Given the description of an element on the screen output the (x, y) to click on. 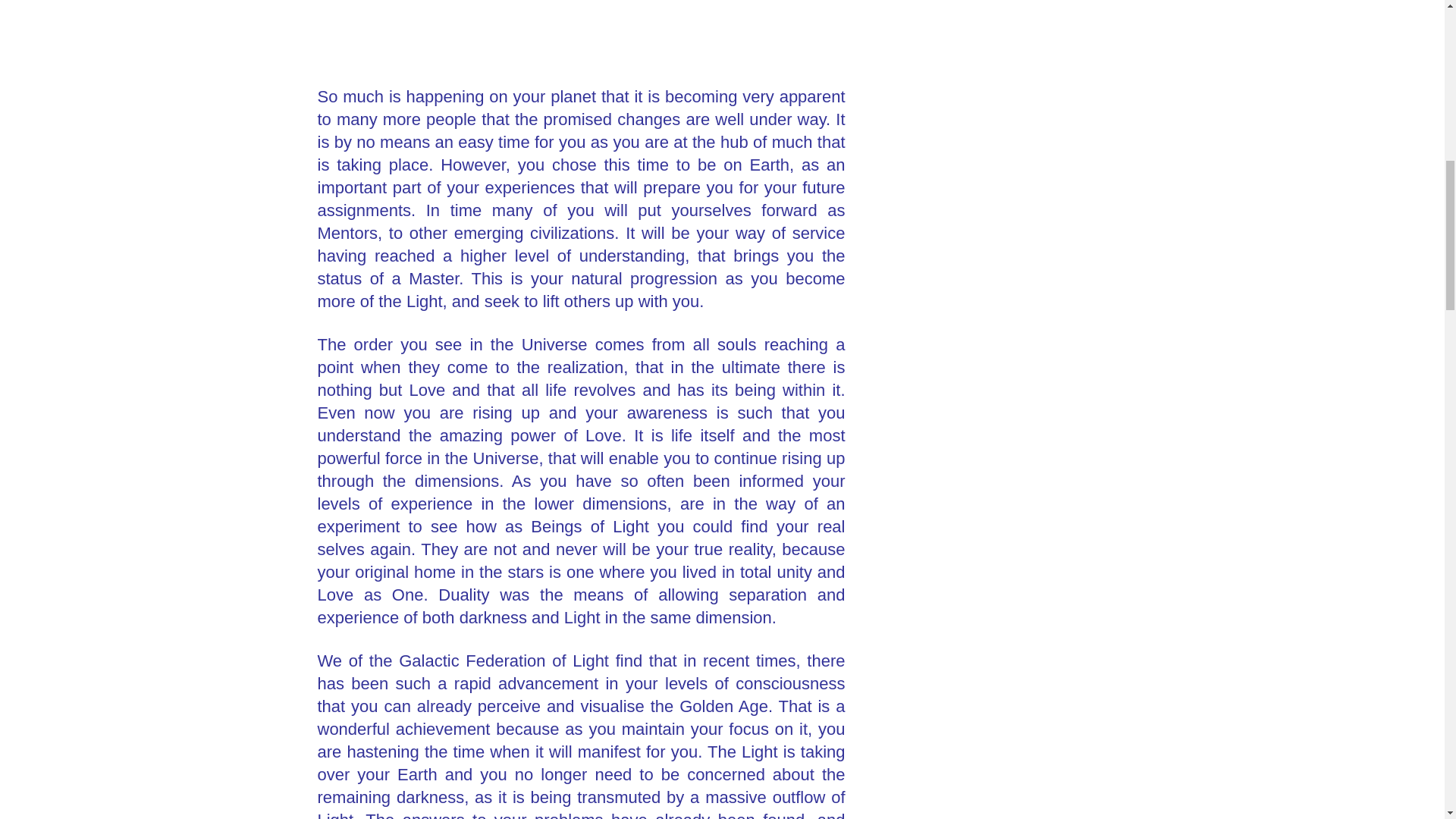
Salusa 25.3.13 (580, 32)
